Given the description of an element on the screen output the (x, y) to click on. 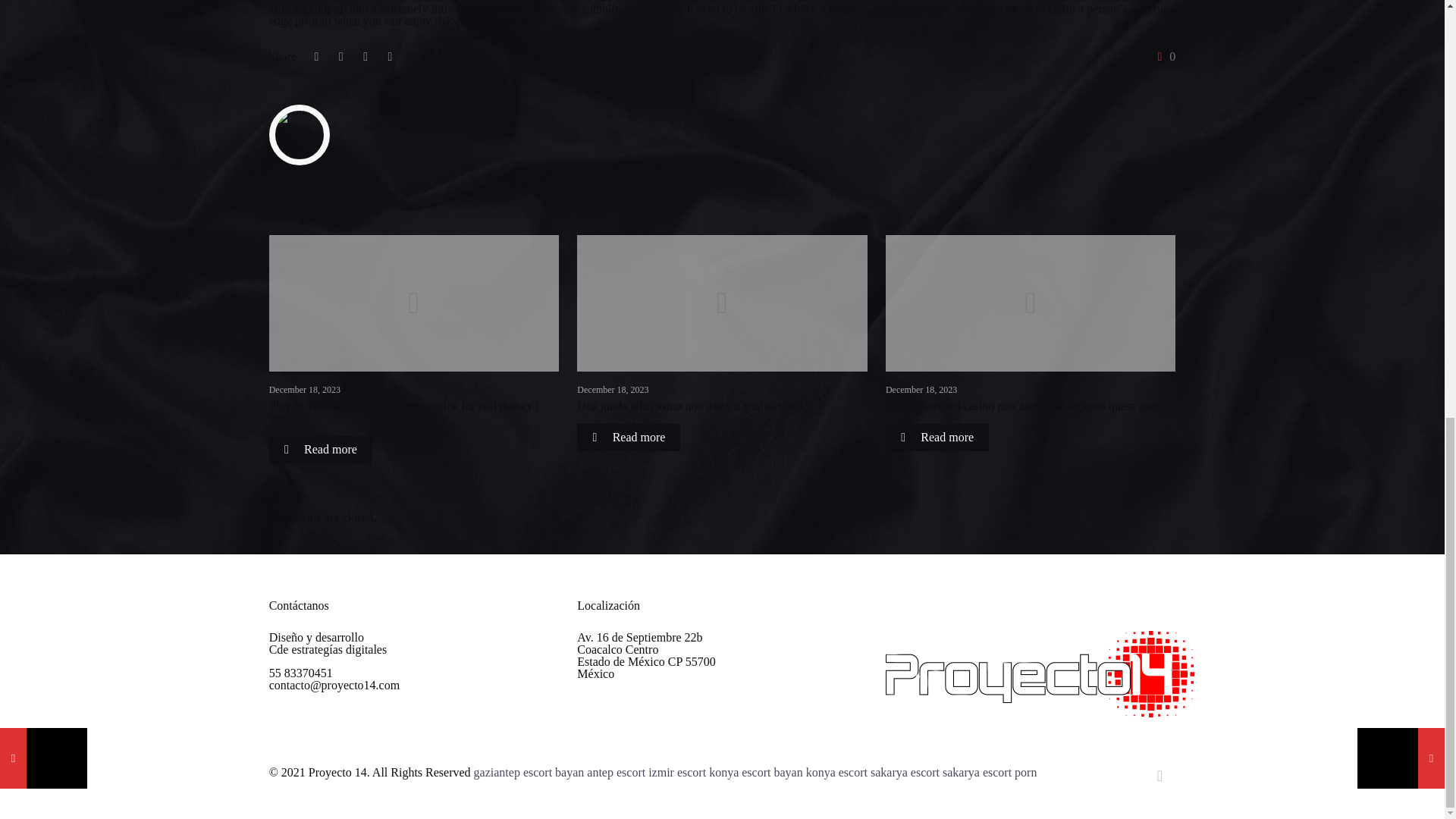
antep escort (615, 771)
0 (1162, 56)
Read more (627, 437)
gaziantep escort bayan (529, 771)
sakarya escort (976, 771)
konya escort (836, 771)
izmir escort (676, 771)
sakarya escort (904, 771)
konya escort bayan (756, 771)
Read more (320, 449)
